Given the description of an element on the screen output the (x, y) to click on. 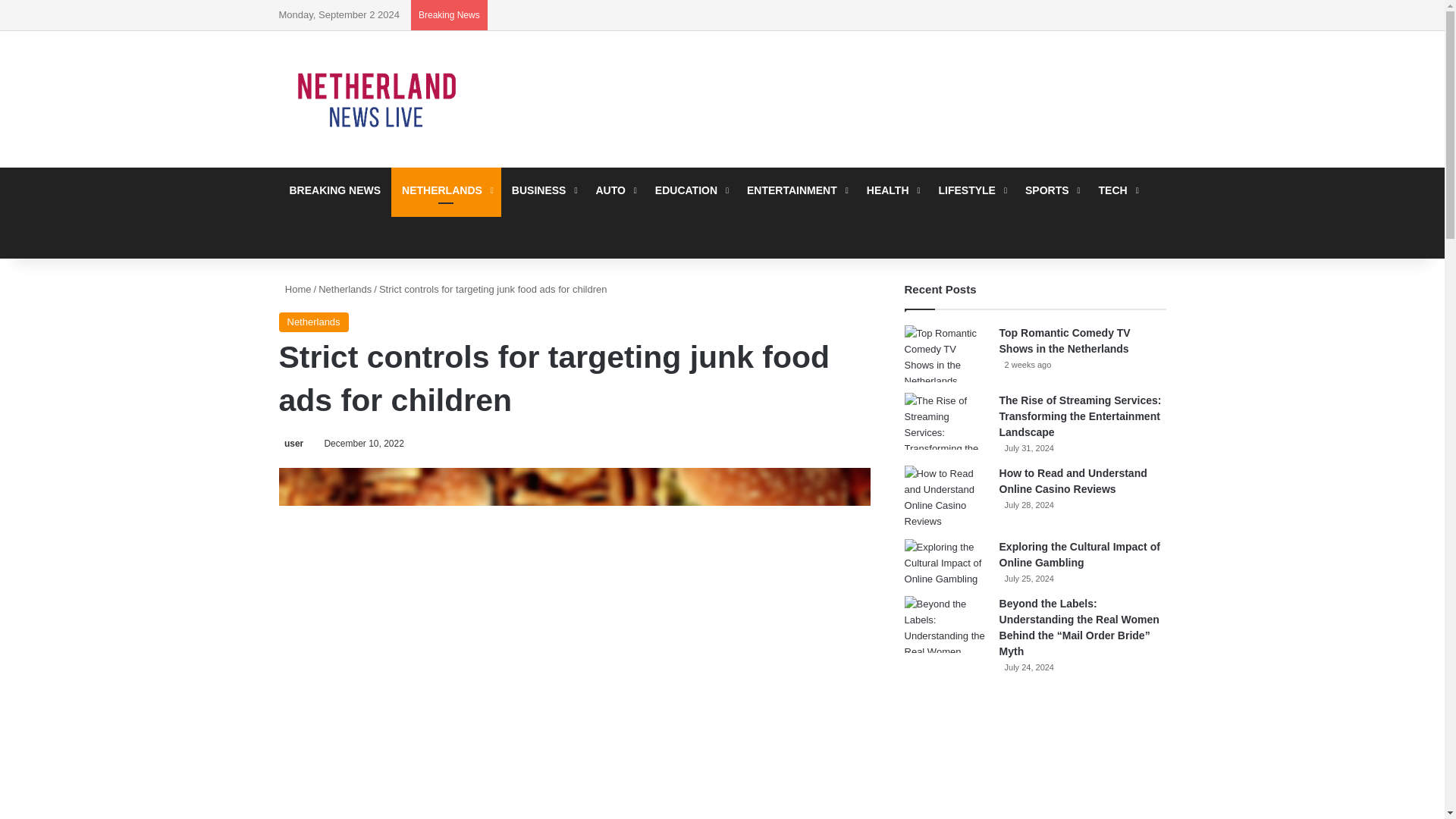
Netherlandsnewslive.com (377, 99)
Home (295, 288)
LIFESTYLE (971, 189)
NETHERLANDS (445, 189)
user (291, 443)
Netherlands (344, 288)
BUSINESS (542, 189)
ENTERTAINMENT (796, 189)
EDUCATION (690, 189)
